Given the description of an element on the screen output the (x, y) to click on. 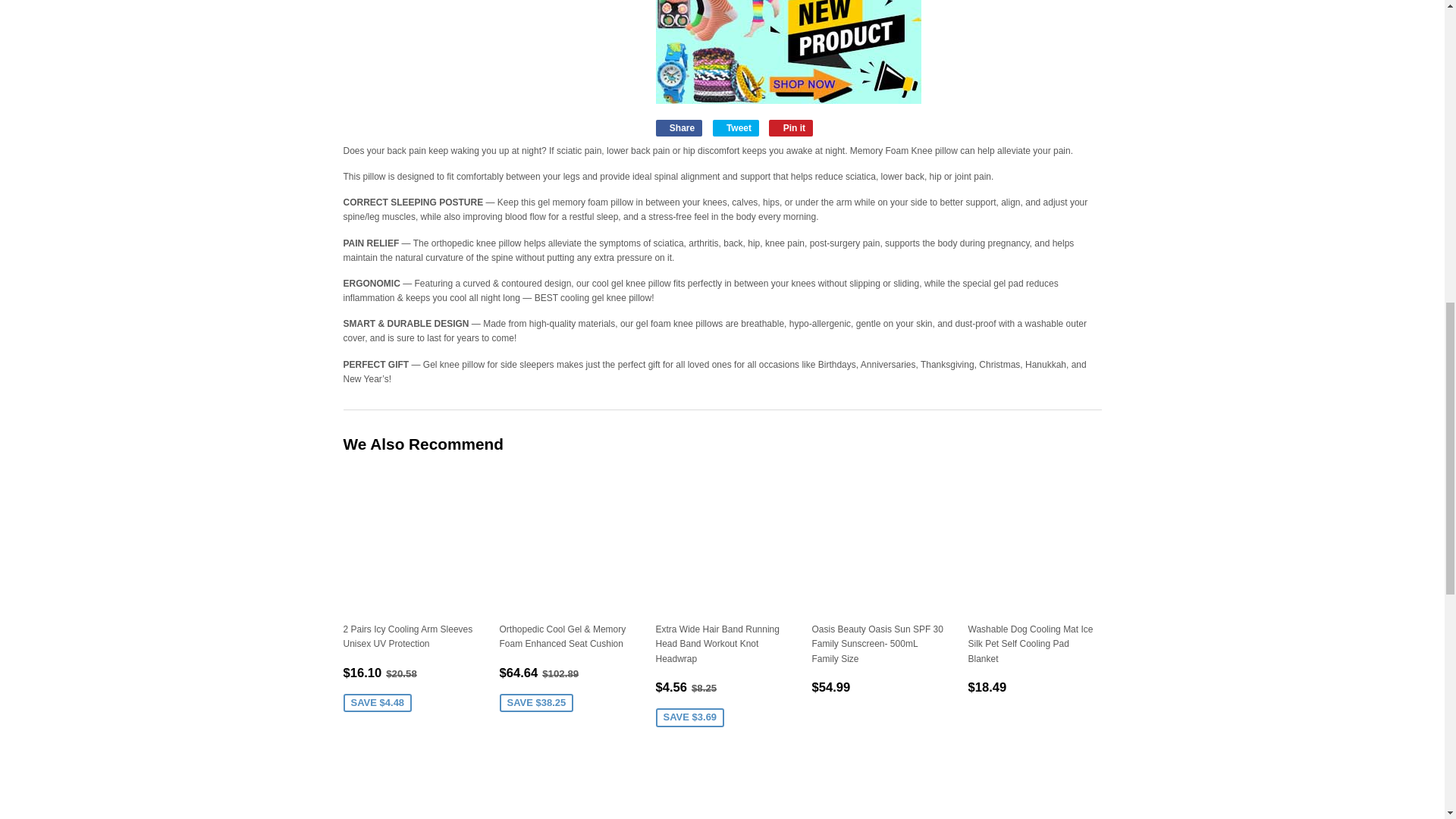
Tweet on Twitter (735, 127)
Share on Facebook (678, 127)
Pin on Pinterest (790, 127)
